Given the description of an element on the screen output the (x, y) to click on. 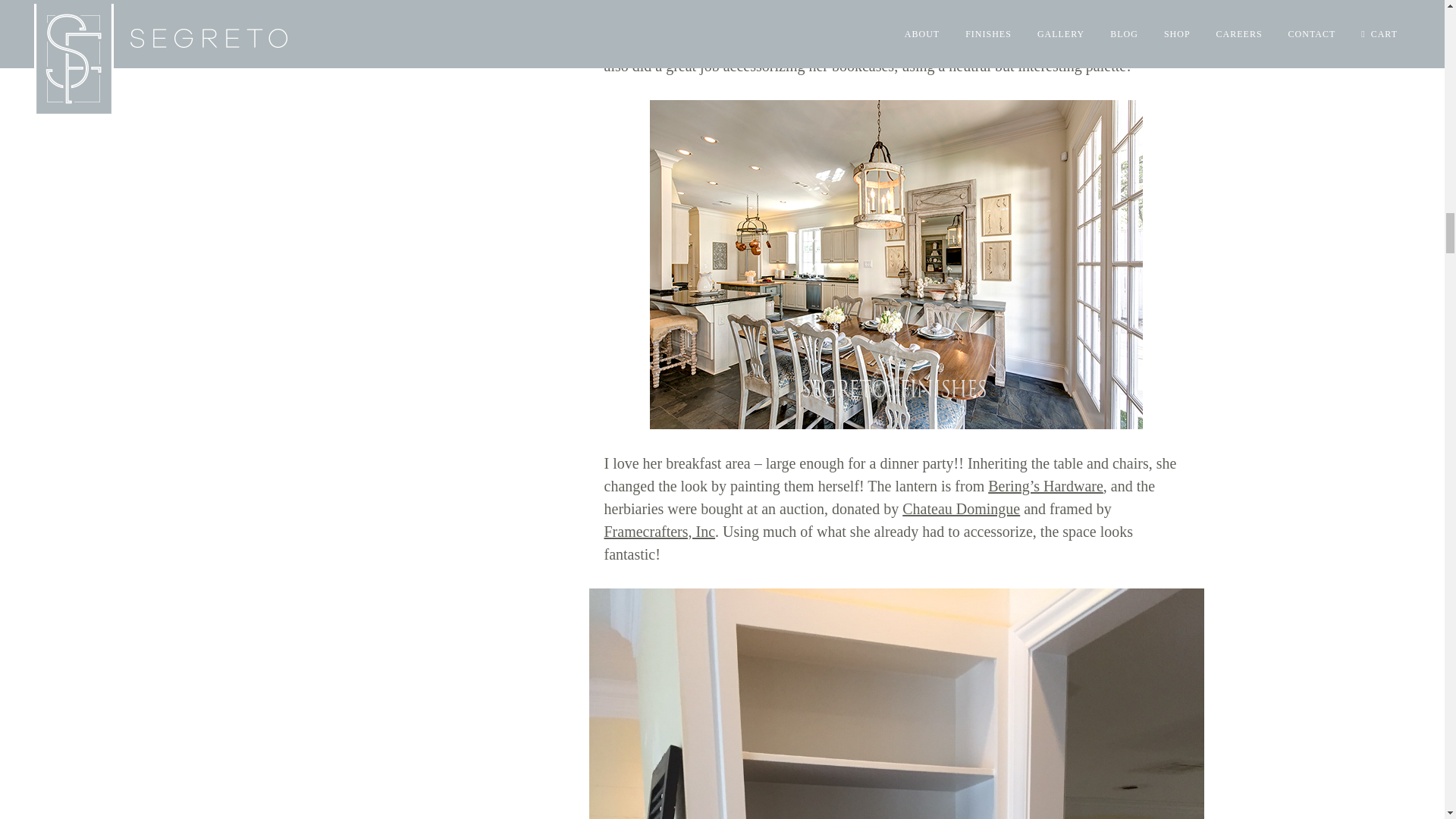
Debbie Mosley (822, 43)
Vieux Interiors (873, 14)
Christina Graci (1045, 20)
